Given the description of an element on the screen output the (x, y) to click on. 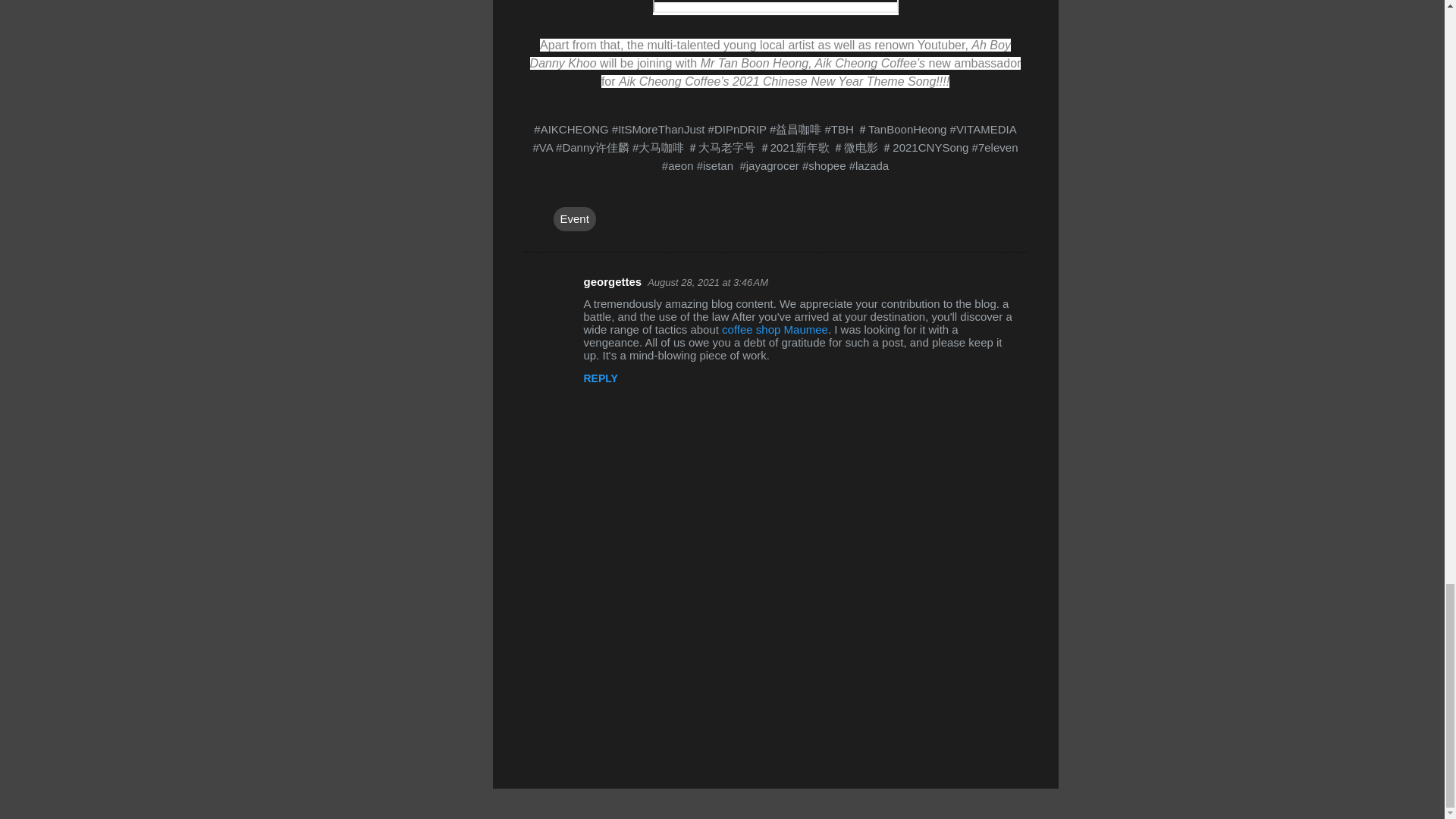
coffee shop Maumee (775, 328)
REPLY (600, 378)
Event (574, 218)
georgettes (612, 281)
